Given the description of an element on the screen output the (x, y) to click on. 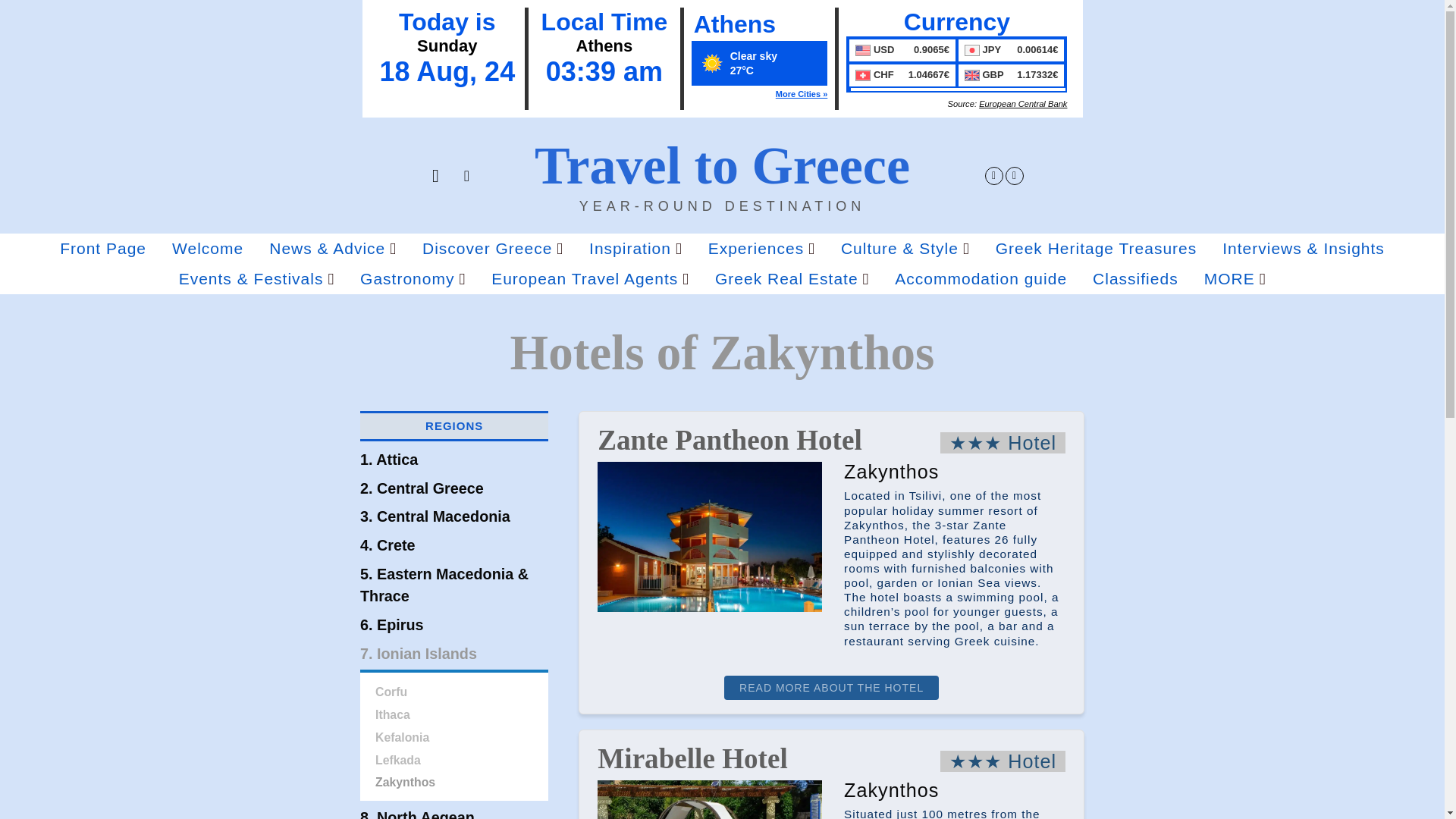
European Central Bank (1022, 103)
Pinterest (1014, 176)
Discover Greece (492, 248)
Travel to Greece (721, 165)
Front Page (103, 248)
Welcome (207, 248)
Twitter (994, 176)
